Given the description of an element on the screen output the (x, y) to click on. 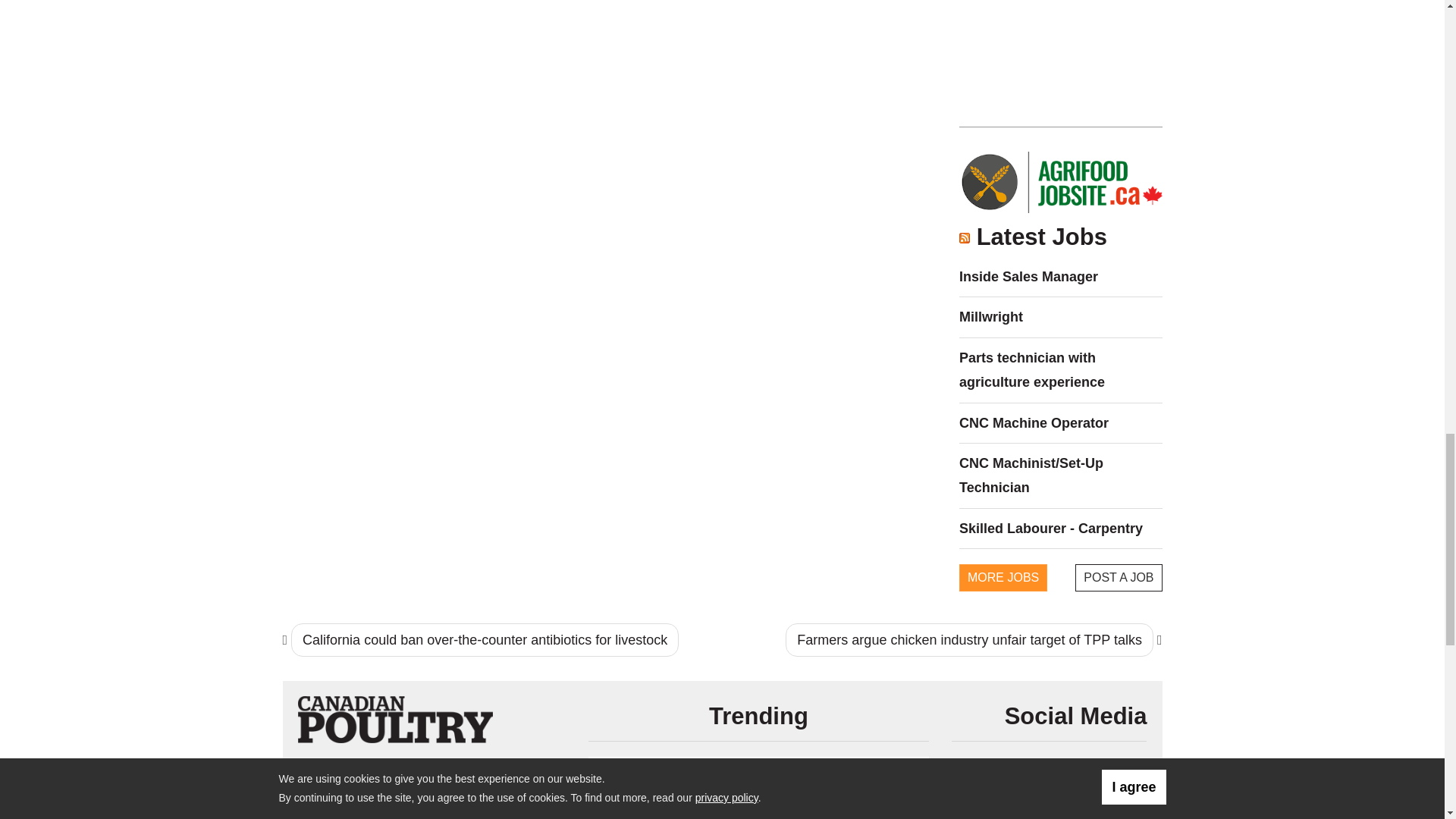
Canadian Poultry Magazine (395, 718)
3rd party ad content (1060, 51)
